Given the description of an element on the screen output the (x, y) to click on. 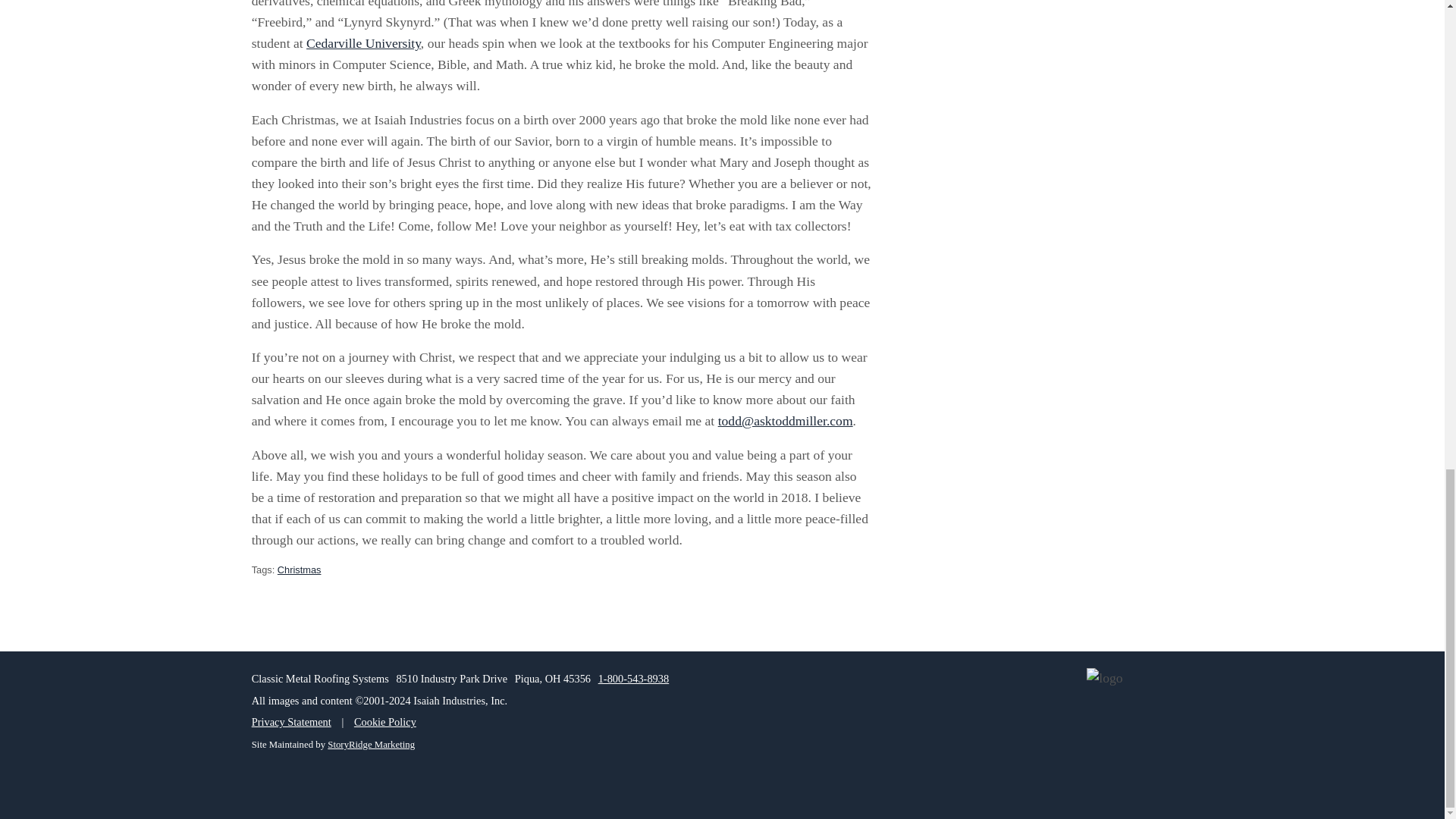
Learn more about our privacy policy (291, 721)
Learn more about our Cookie Policy (384, 721)
